Given the description of an element on the screen output the (x, y) to click on. 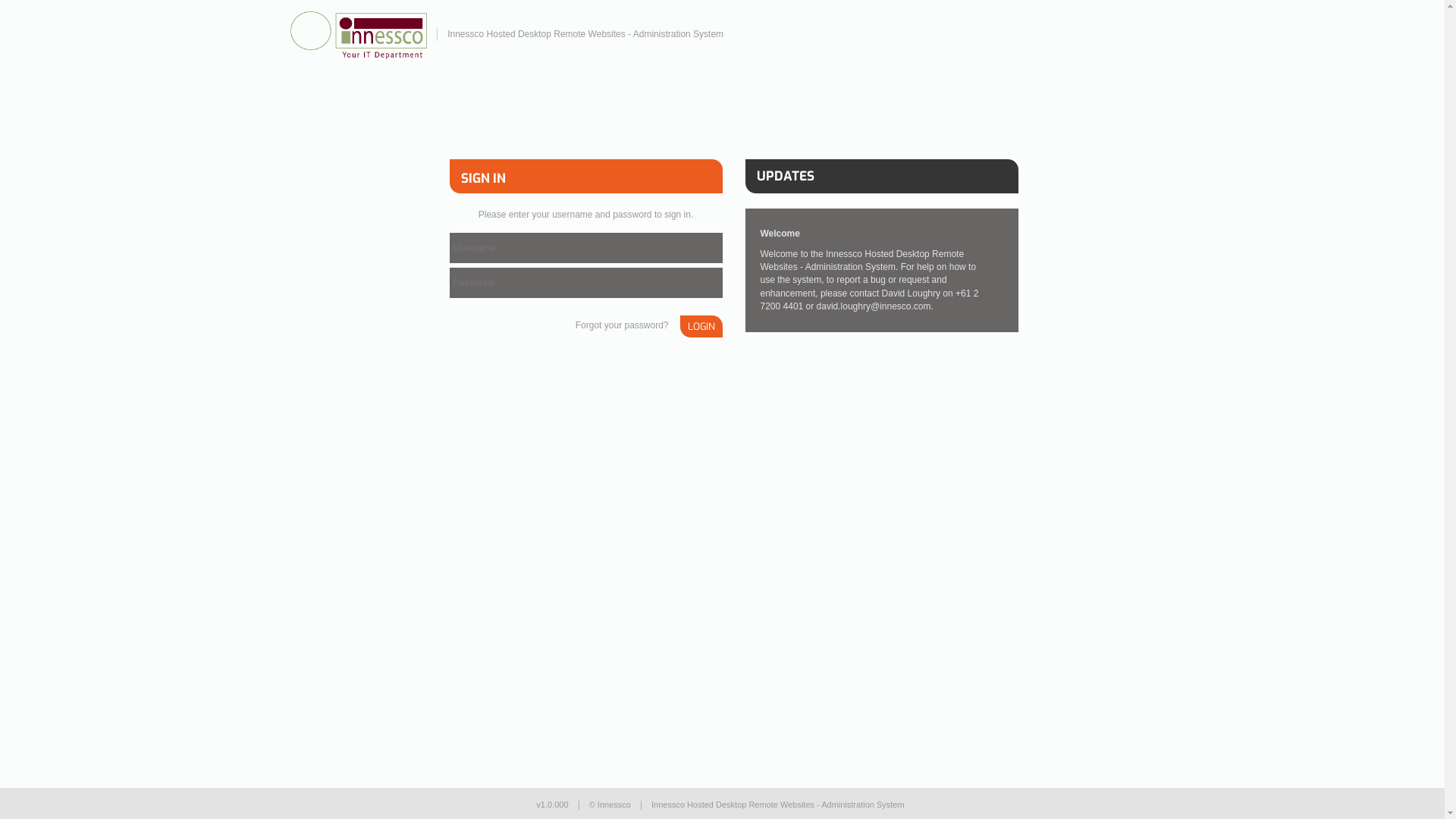
Forgot your password? Element type: text (621, 325)
david.loughry@innesco.com Element type: text (873, 306)
LOGIN Element type: text (700, 326)
